Given the description of an element on the screen output the (x, y) to click on. 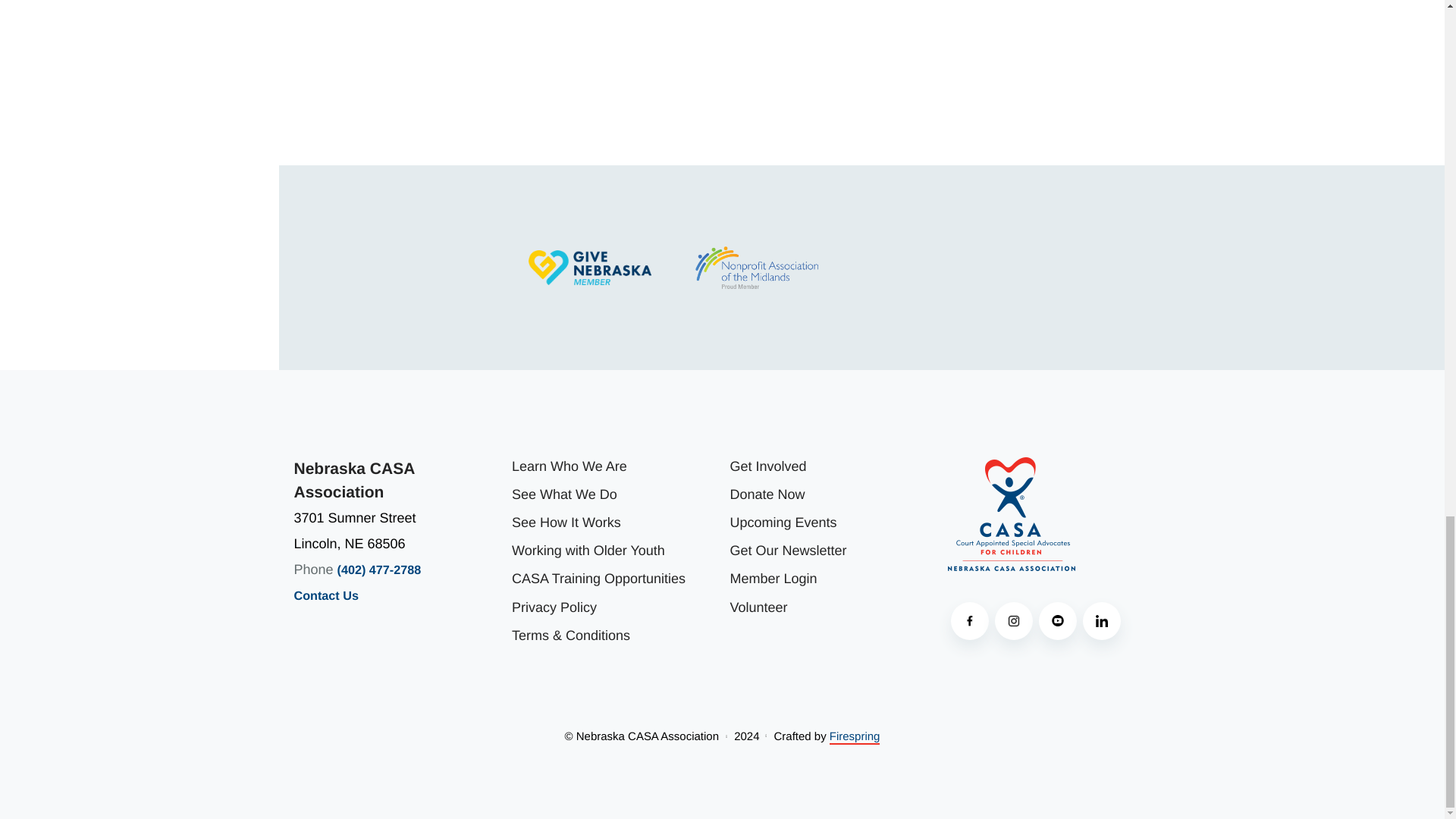
logo (1011, 514)
